Given the description of an element on the screen output the (x, y) to click on. 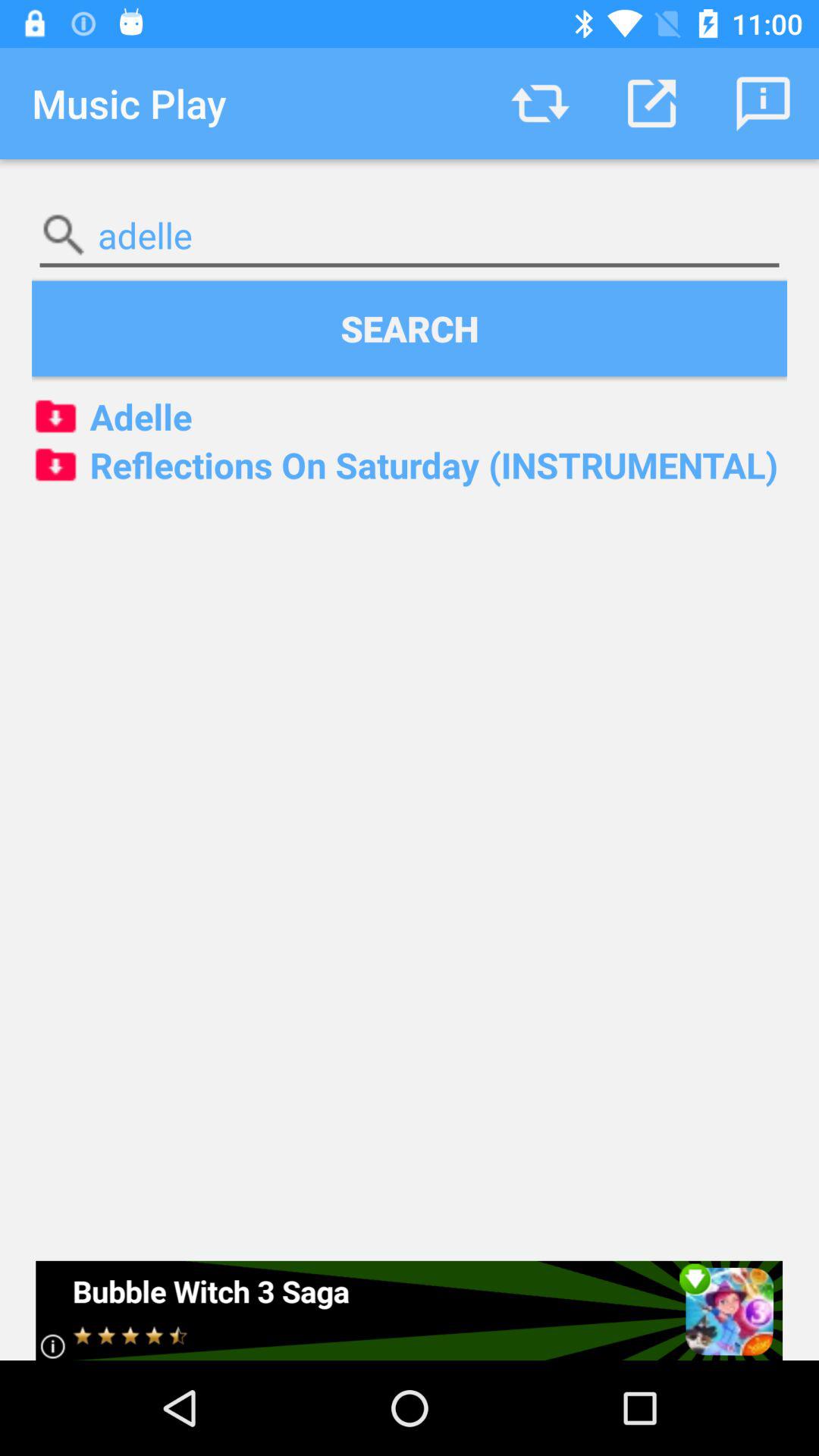
open item below the adelle item (409, 328)
